Given the description of an element on the screen output the (x, y) to click on. 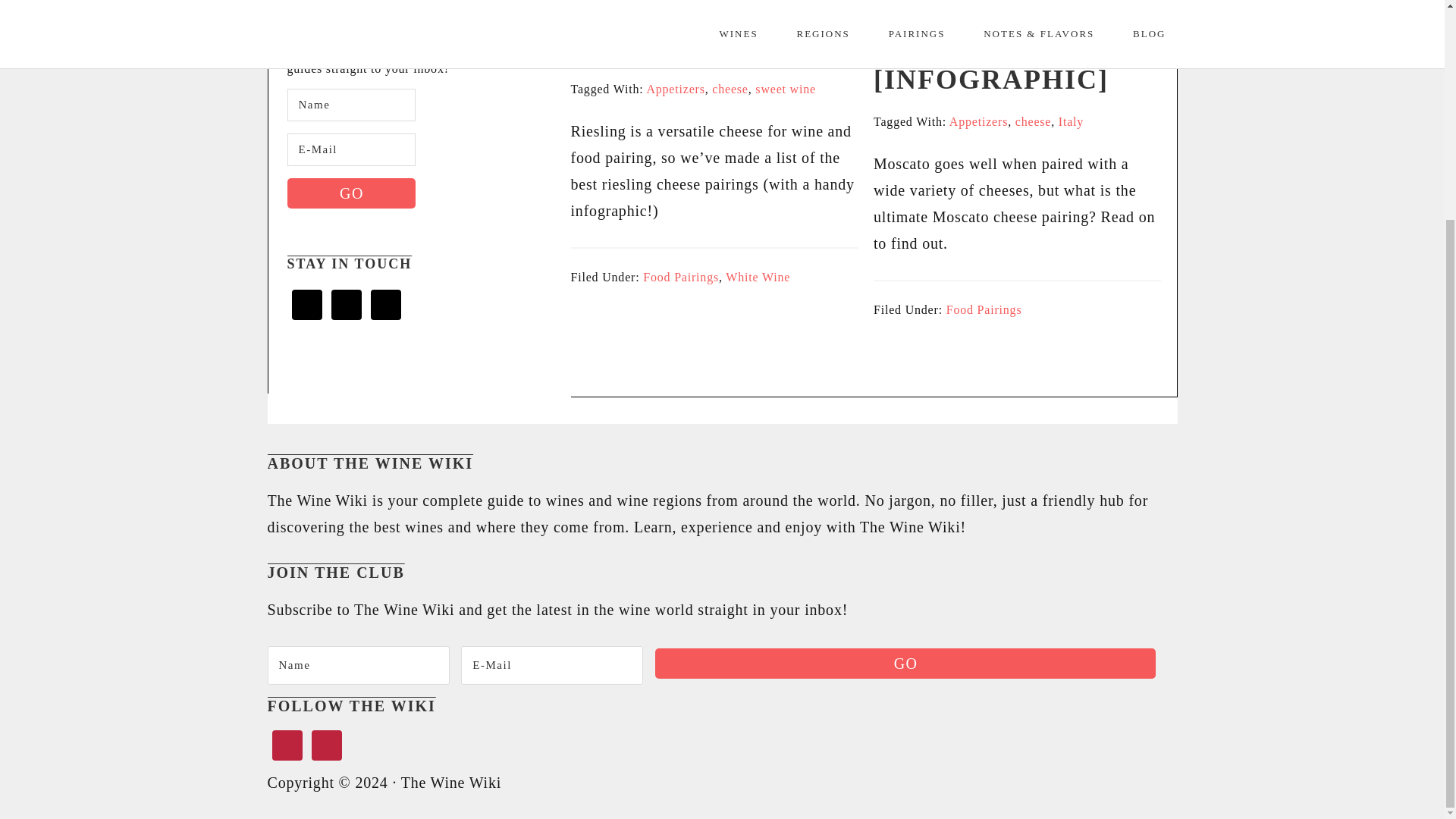
White Wine (757, 277)
Food Pairings (681, 277)
Appetizers (675, 88)
sweet wine (785, 88)
cheese (729, 88)
Go (905, 663)
Go (350, 193)
HOW TO PAIR RIESLING WITH CHEESE (688, 30)
